Given the description of an element on the screen output the (x, y) to click on. 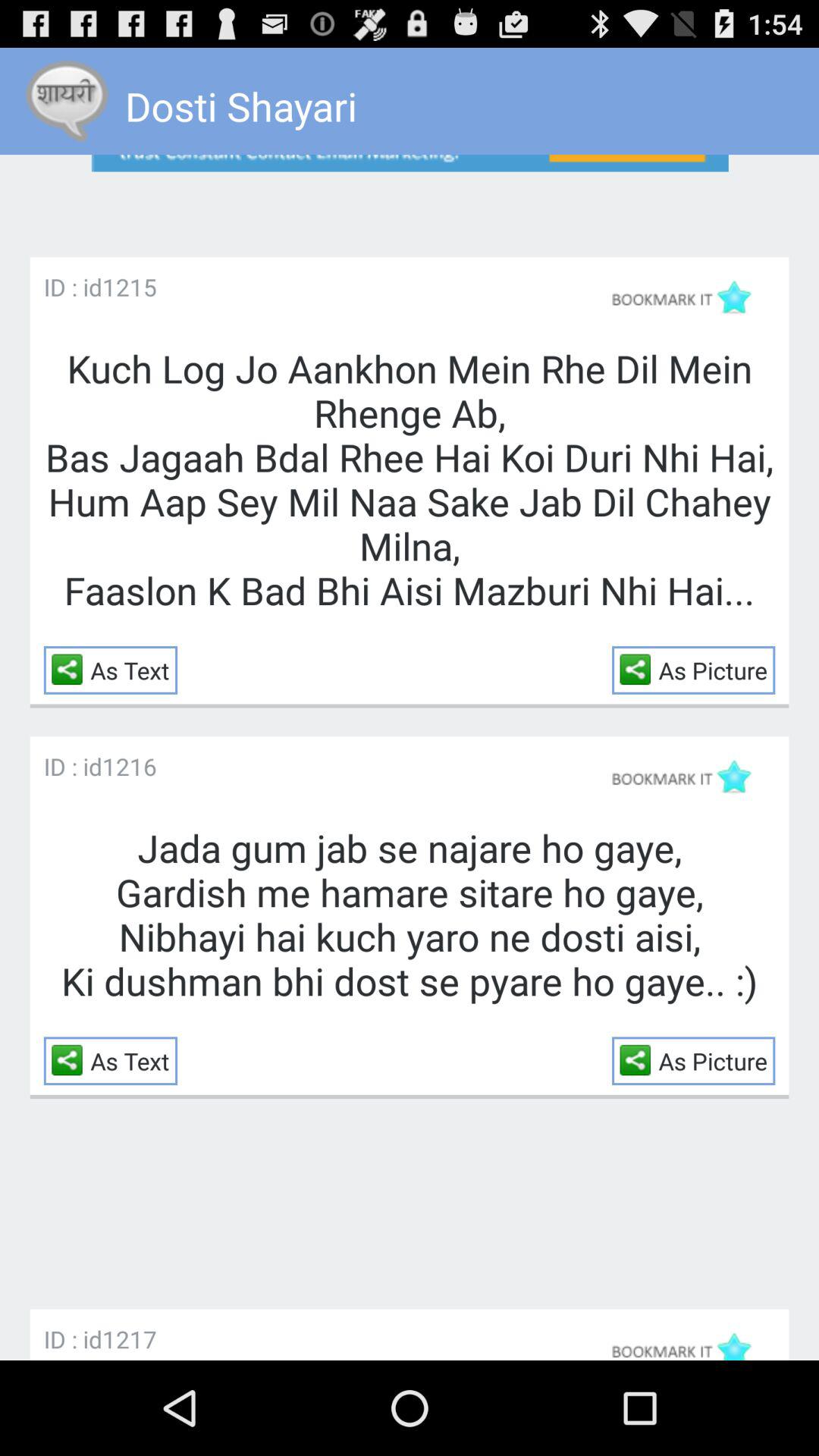
select icon next to the as picture item (638, 669)
